Given the description of an element on the screen output the (x, y) to click on. 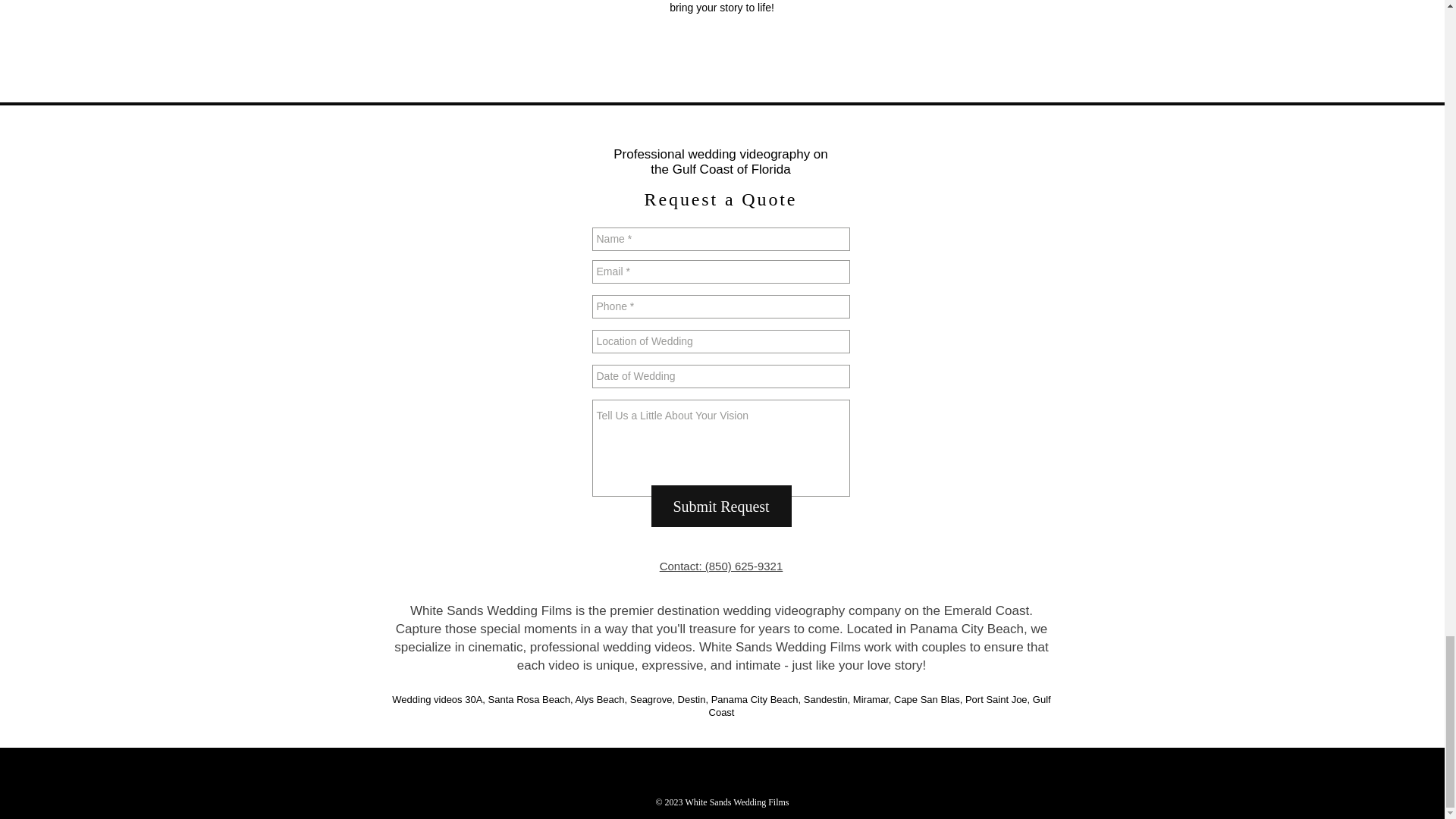
White Sands Wedding Films (736, 801)
Submit Request (720, 506)
